Given the description of an element on the screen output the (x, y) to click on. 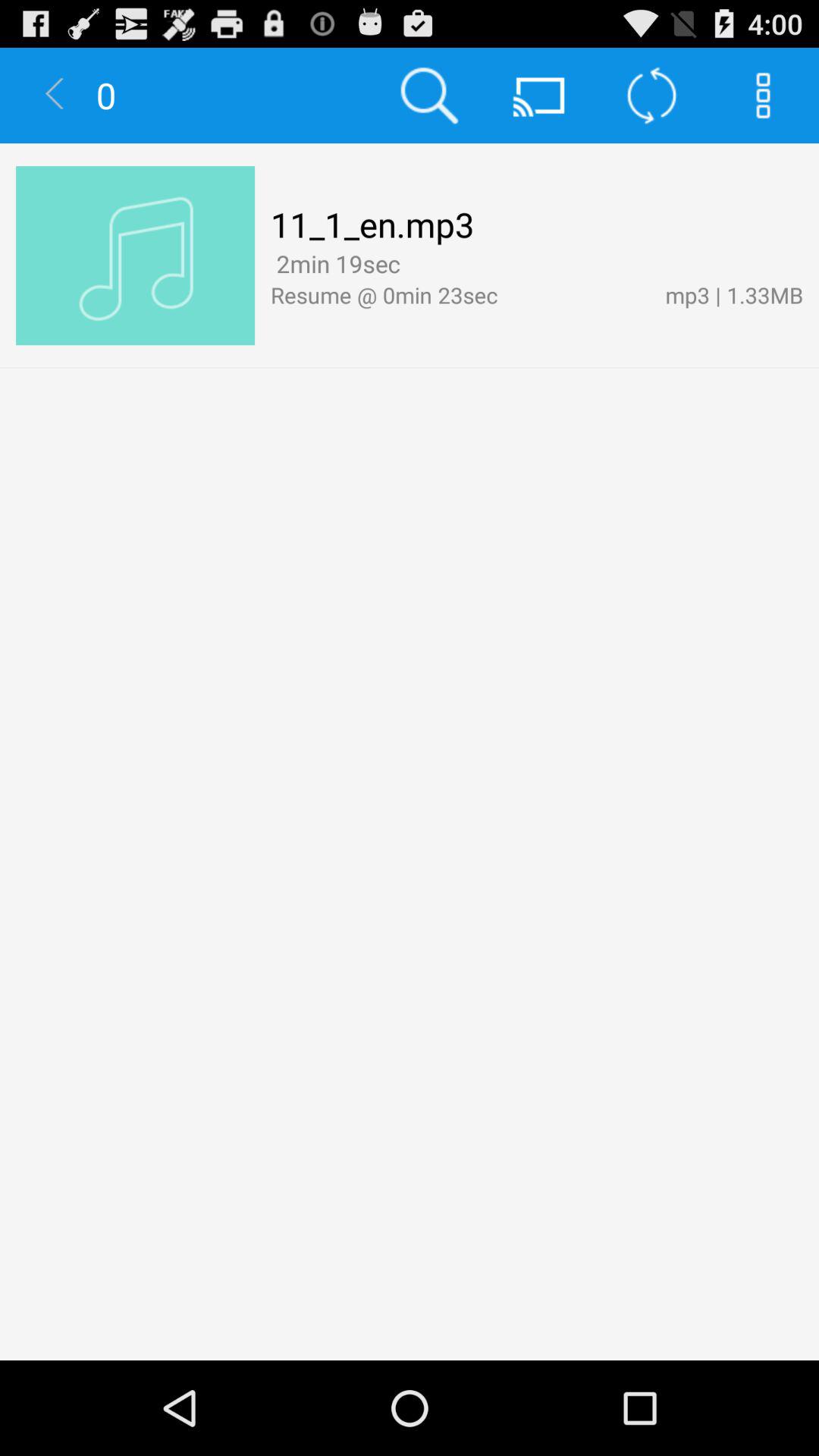
select item above the  2min 19sec icon (372, 224)
